Given the description of an element on the screen output the (x, y) to click on. 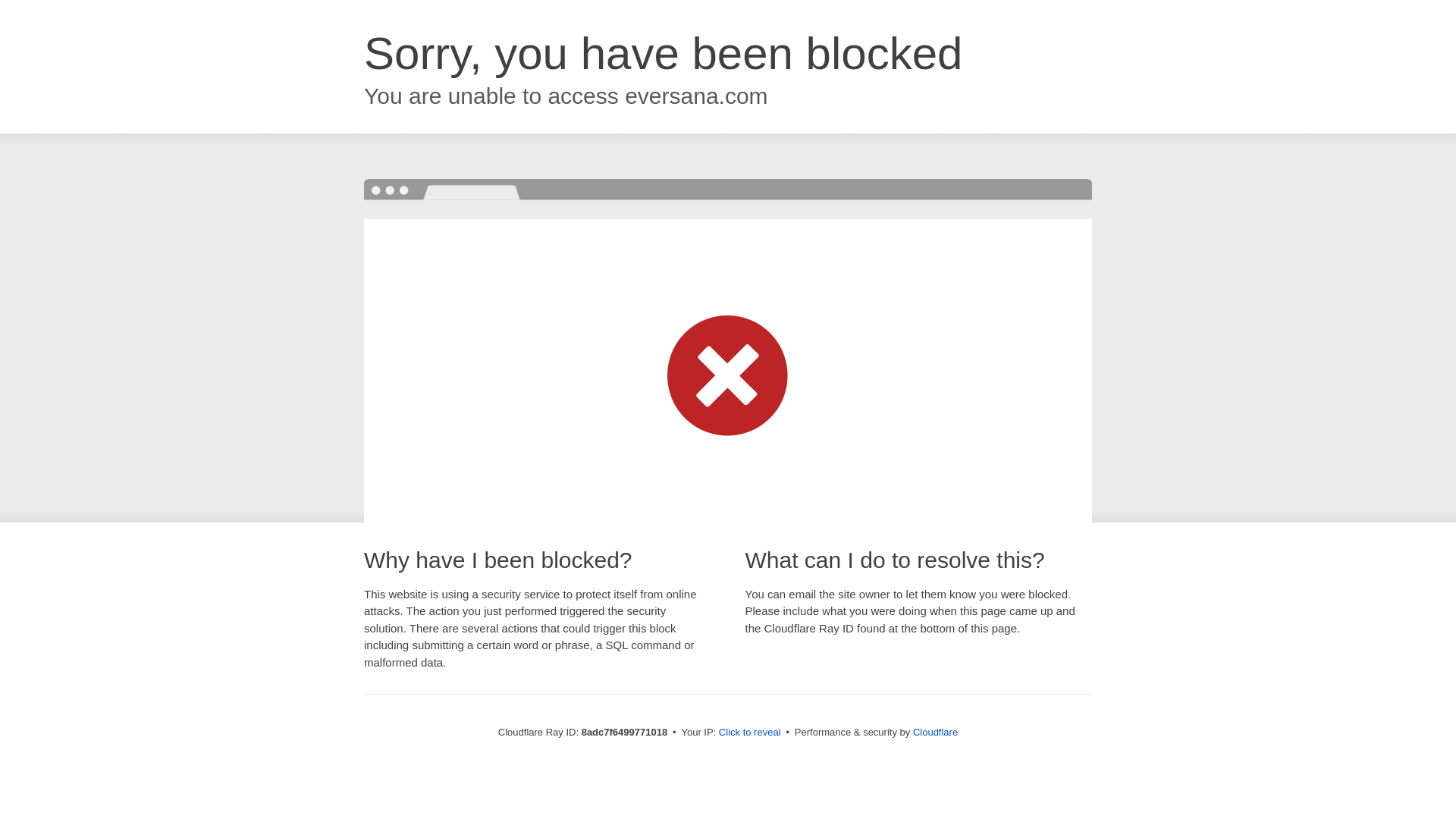
Click to reveal (749, 732)
Cloudflare (935, 731)
